Given the description of an element on the screen output the (x, y) to click on. 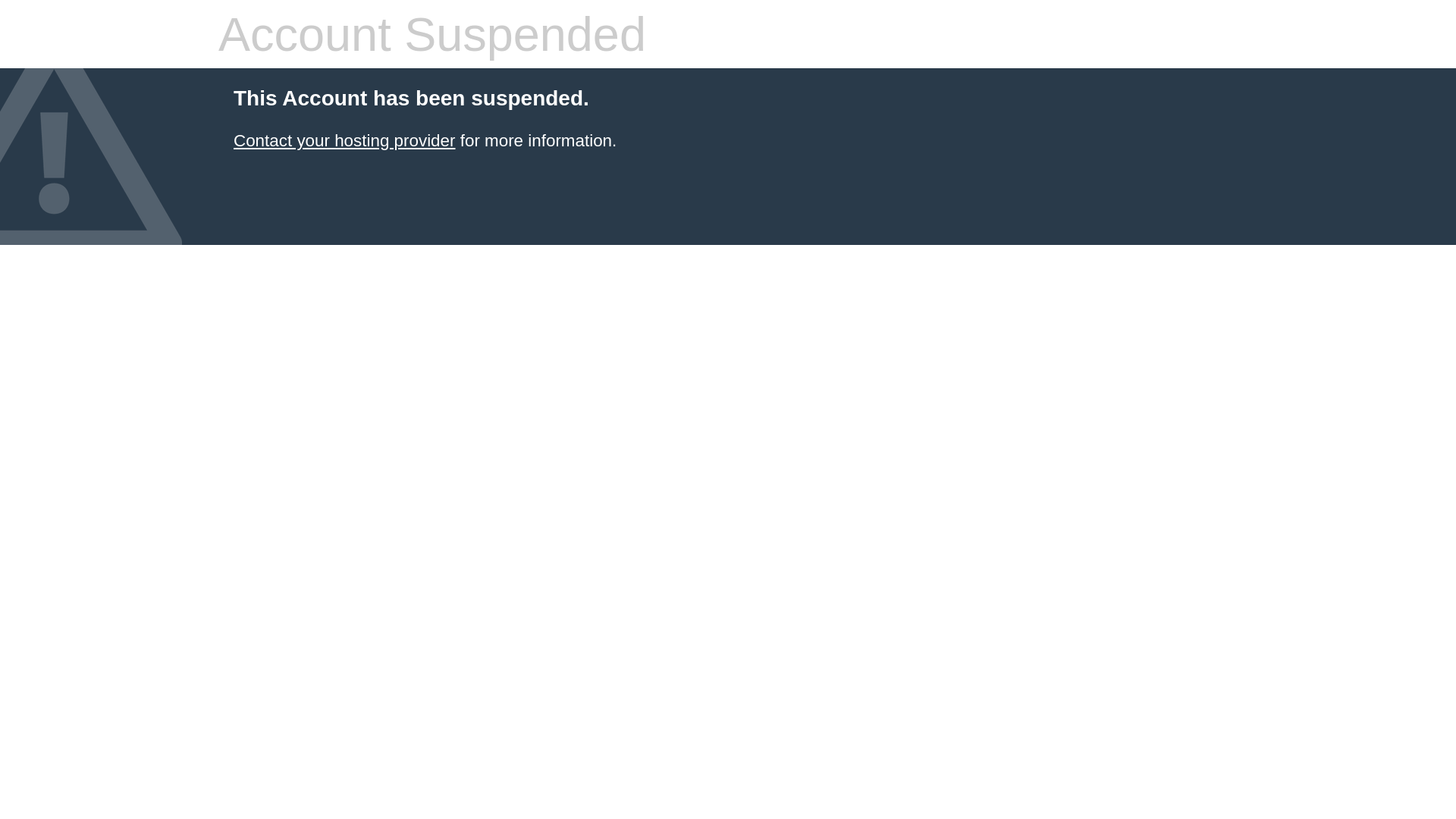
Contact your hosting provider Element type: text (344, 140)
